Given the description of an element on the screen output the (x, y) to click on. 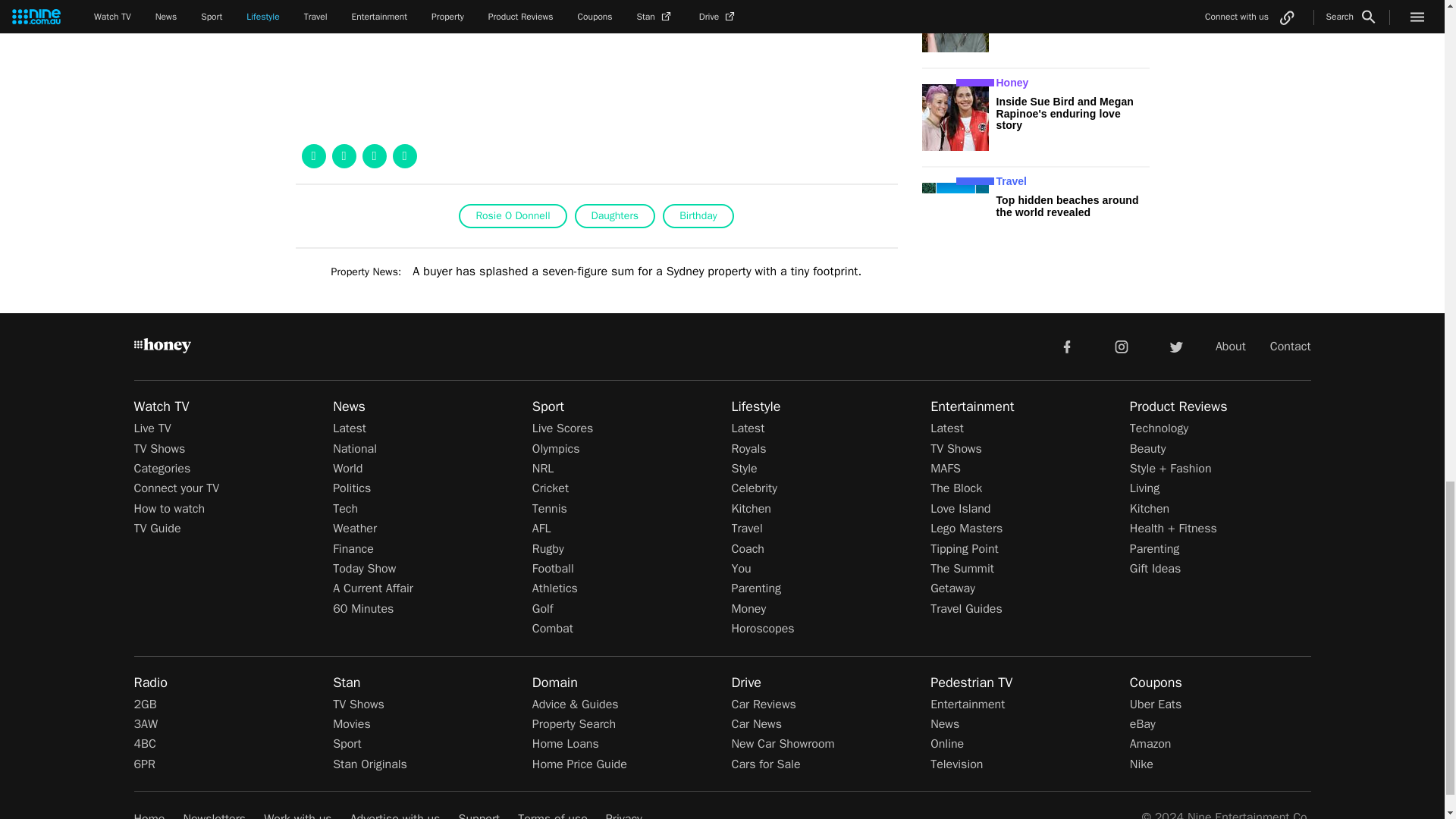
instagram (1121, 345)
facebook (1066, 345)
twitter (1175, 345)
